Given the description of an element on the screen output the (x, y) to click on. 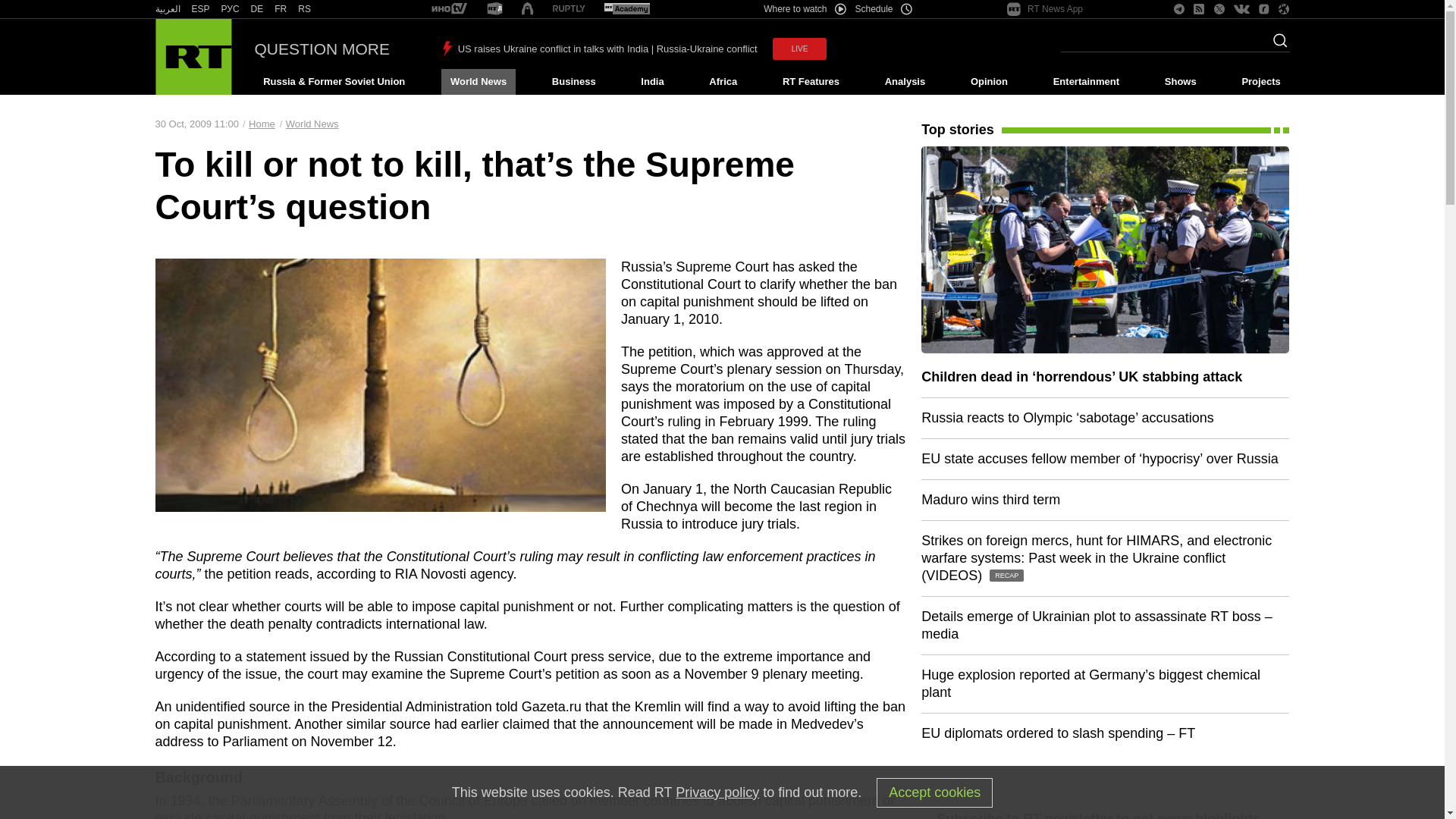
Shows (1180, 81)
RT  (280, 9)
RT  (569, 8)
Opinion (988, 81)
RT  (494, 9)
RT  (626, 9)
Business (573, 81)
Where to watch (803, 9)
Analysis (905, 81)
RT  (230, 9)
RT  (166, 9)
RT  (448, 9)
Africa (722, 81)
RT  (304, 9)
India (651, 81)
